Given the description of an element on the screen output the (x, y) to click on. 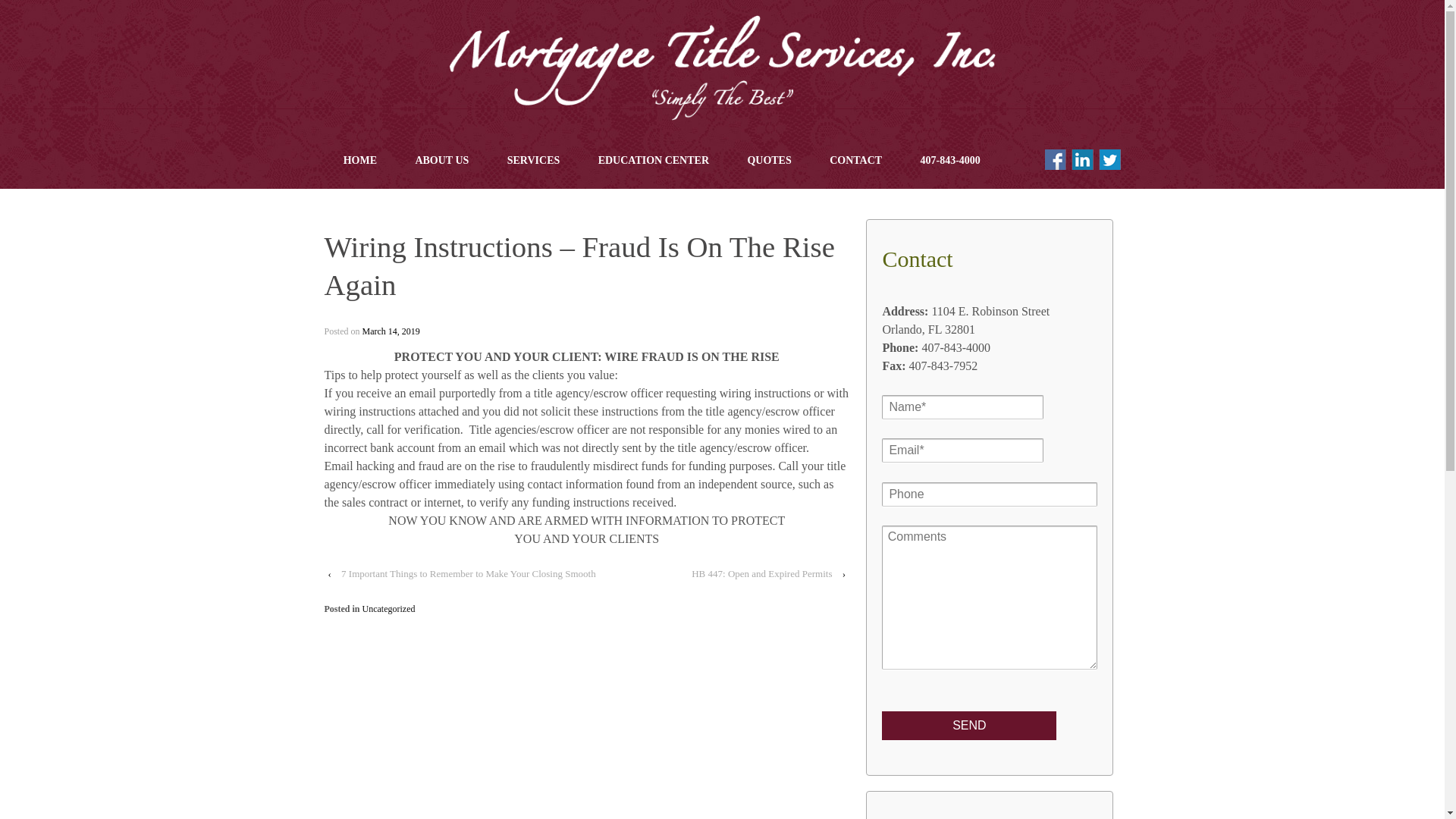
HB 447: Open and Expired Permits (762, 573)
Send (969, 725)
QUOTES (769, 160)
ABOUT US (441, 160)
Uncategorized (388, 608)
CONTACT (855, 160)
SERVICES (533, 160)
March 14, 2019 (391, 330)
EDUCATION CENTER (653, 160)
HOME (360, 160)
407-843-4000 (949, 160)
7 Important Things to Remember to Make Your Closing Smooth (468, 573)
Send (969, 725)
